Given the description of an element on the screen output the (x, y) to click on. 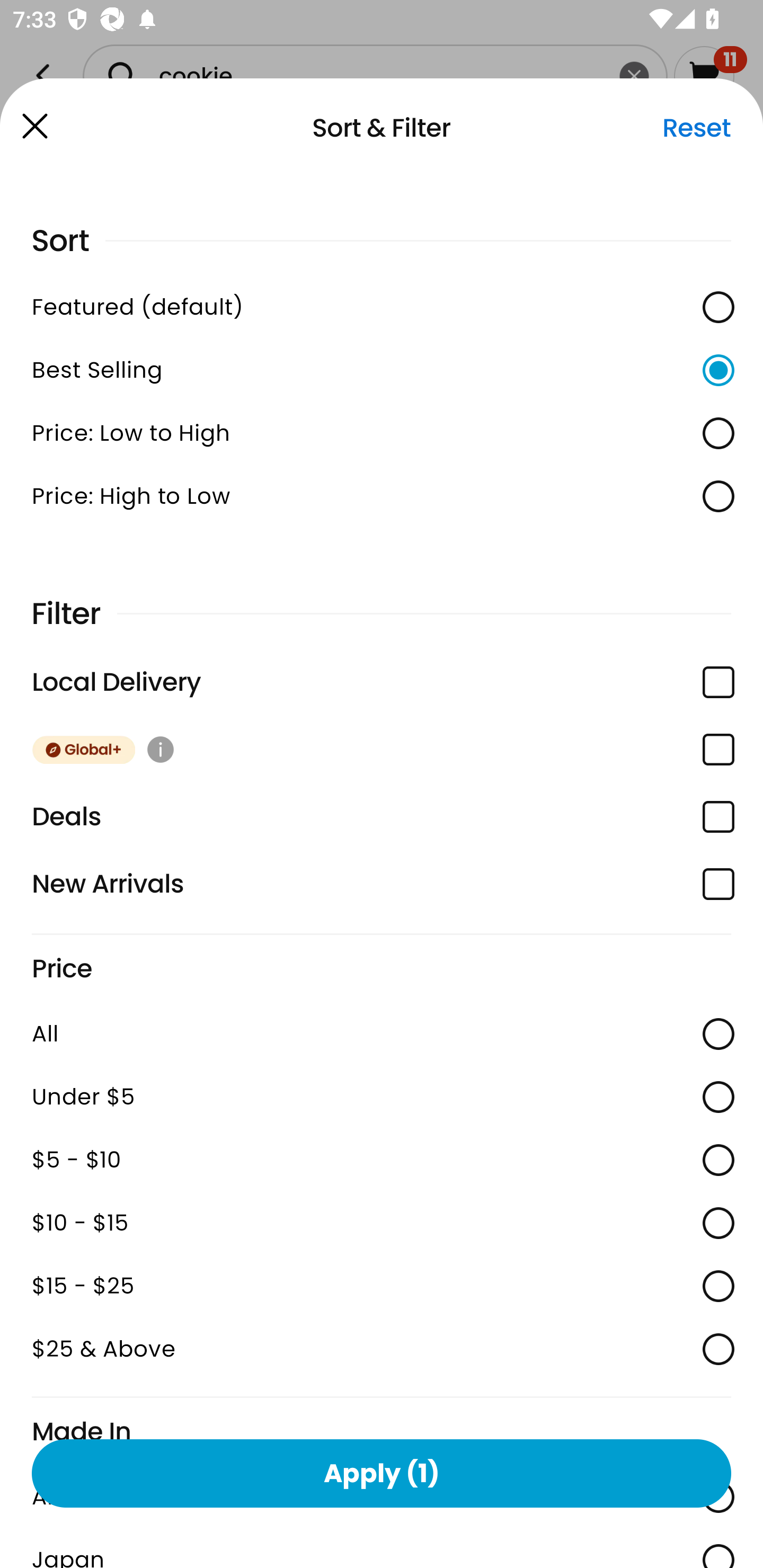
Reset (696, 127)
Apply (1) (381, 1472)
